Given the description of an element on the screen output the (x, y) to click on. 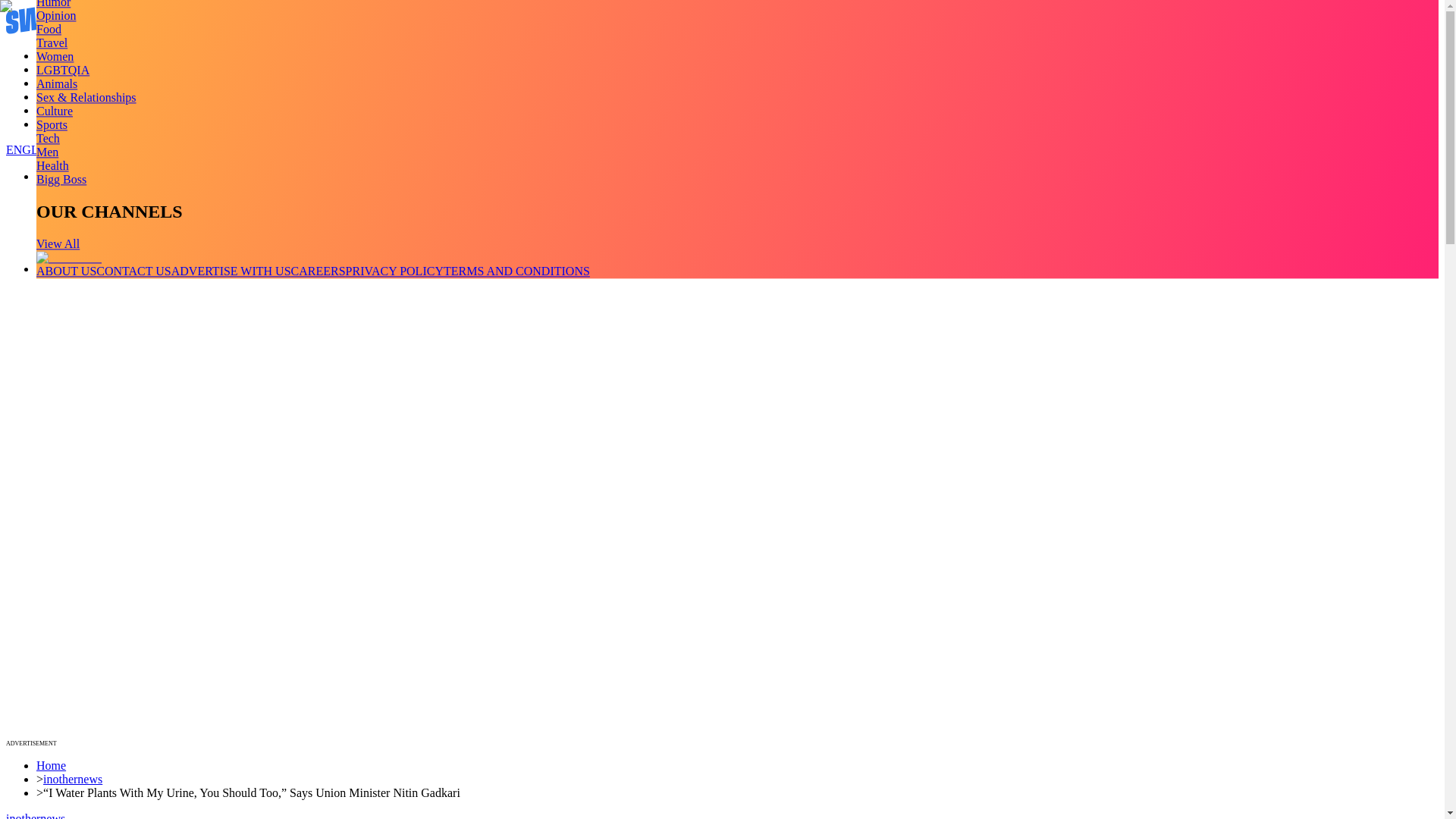
Opinion (55, 15)
Videos (52, 69)
Health (52, 164)
ENGLISH (31, 149)
ABOUT US (66, 270)
Spotlight (58, 123)
Travel (51, 42)
Food (48, 29)
Trending (58, 55)
ADVERTISE WITH US (231, 270)
